Given the description of an element on the screen output the (x, y) to click on. 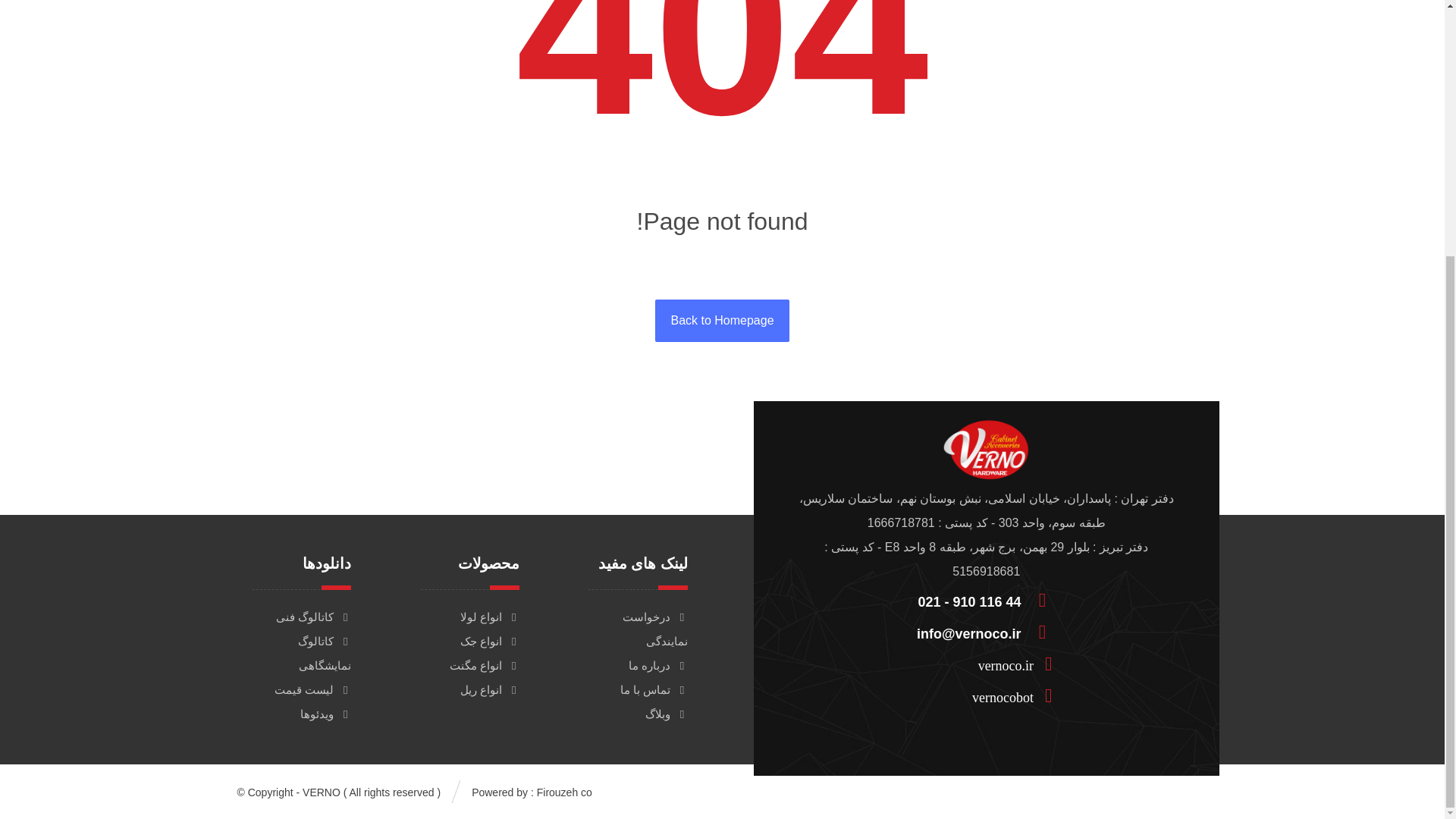
Back to Homepage (722, 320)
vernocobot (980, 694)
vernoco.ir (980, 663)
